Given the description of an element on the screen output the (x, y) to click on. 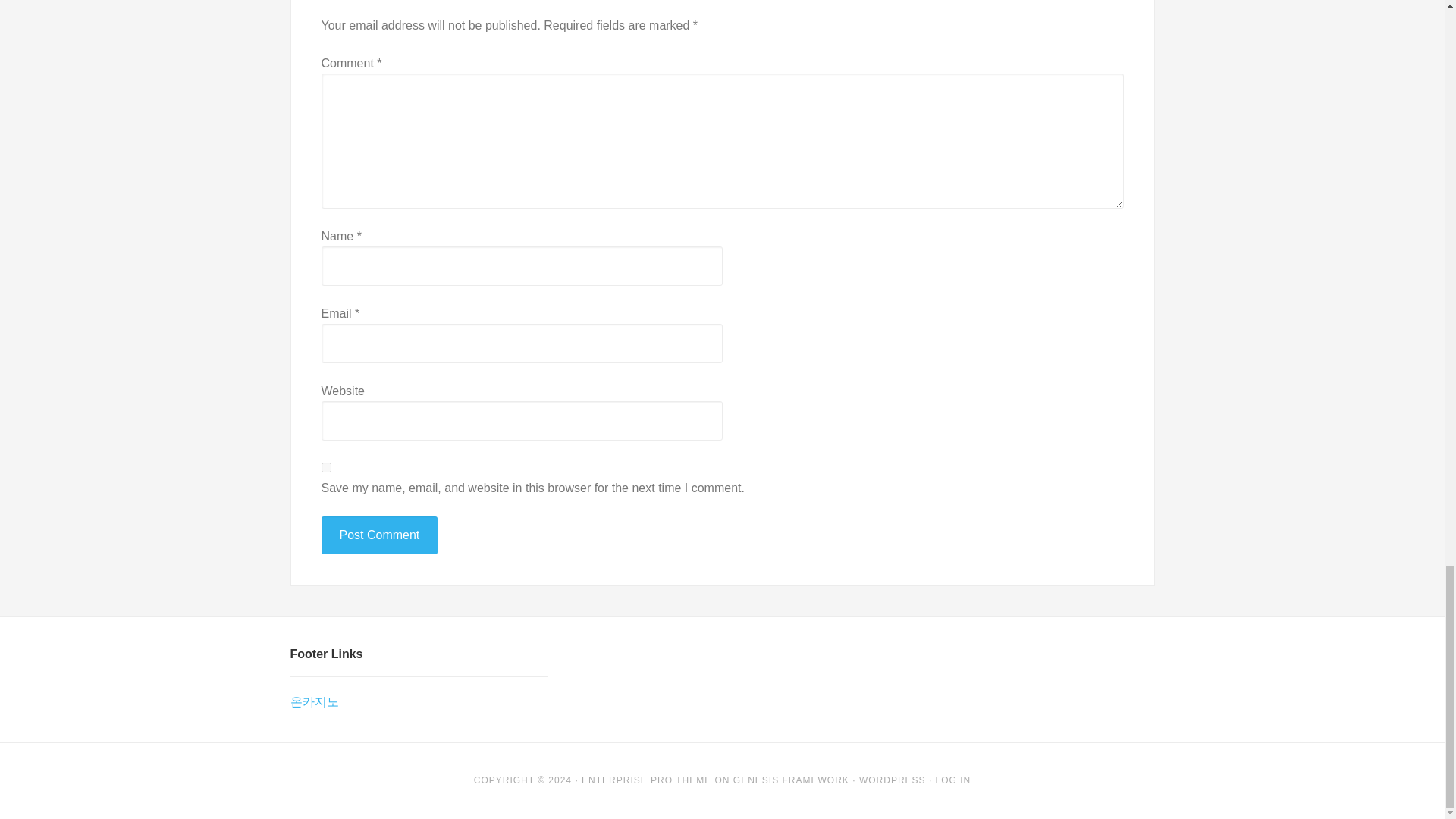
ENTERPRISE PRO THEME (645, 779)
Post Comment (379, 535)
WORDPRESS (892, 779)
yes (326, 467)
Post Comment (379, 535)
LOG IN (953, 779)
GENESIS FRAMEWORK (790, 779)
